Given the description of an element on the screen output the (x, y) to click on. 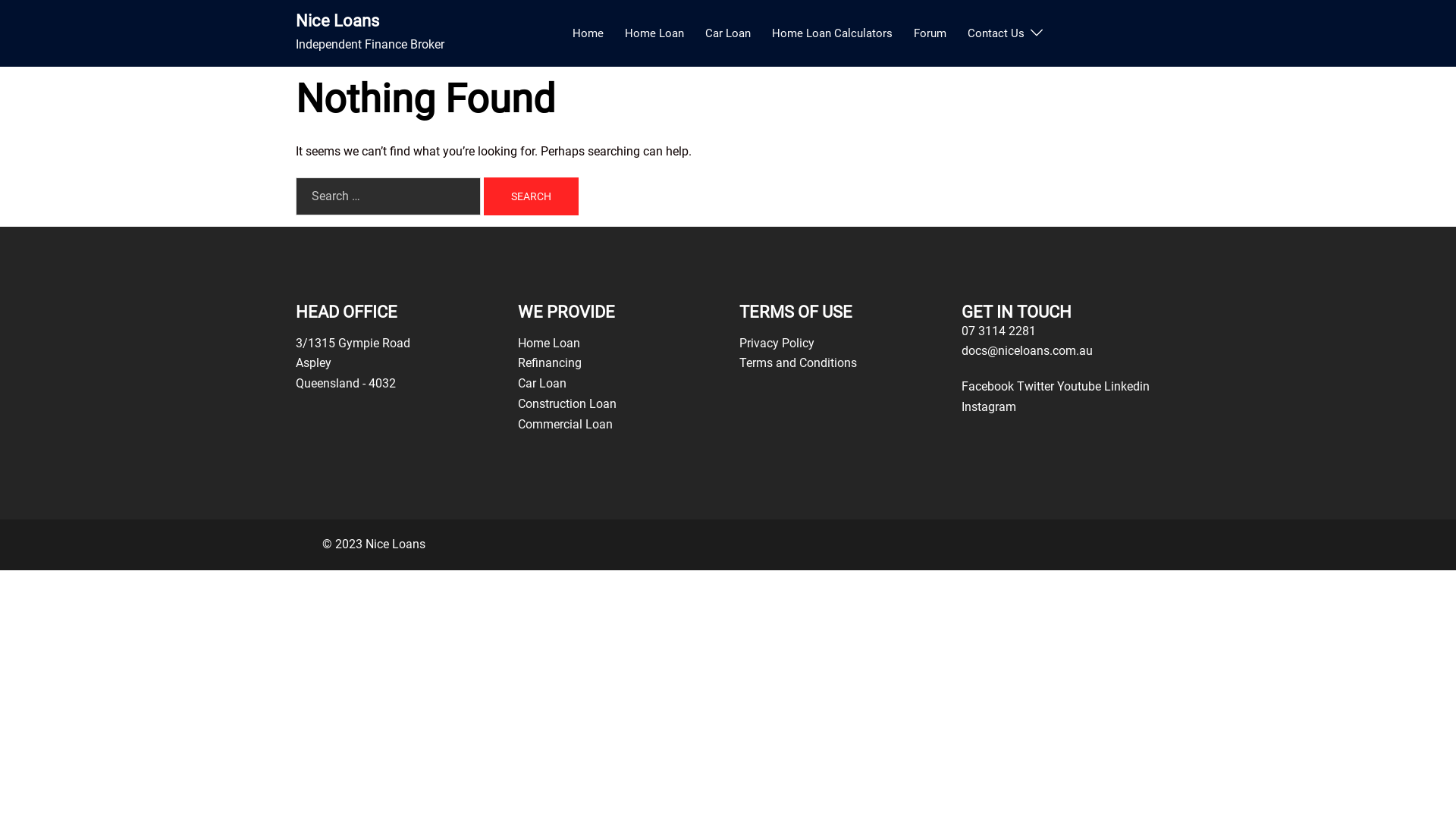
Home Loan Calculators Element type: text (831, 33)
Home Element type: text (587, 33)
Car Loan Element type: text (727, 33)
docs@niceloans.com.au Element type: text (1026, 350)
Twitter Element type: text (1036, 386)
Search Element type: text (530, 196)
Home Loan Element type: text (654, 33)
Nice Loans Element type: text (337, 20)
Terms and Conditions Element type: text (797, 362)
07 3114 2281 Element type: text (998, 330)
Forum Element type: text (929, 33)
Privacy Policy Element type: text (776, 342)
Contact Us Element type: text (995, 33)
Linkedin Element type: text (1126, 386)
Instagram Element type: text (988, 406)
Youtube Element type: text (1080, 386)
Facebook Element type: text (988, 386)
